Given the description of an element on the screen output the (x, y) to click on. 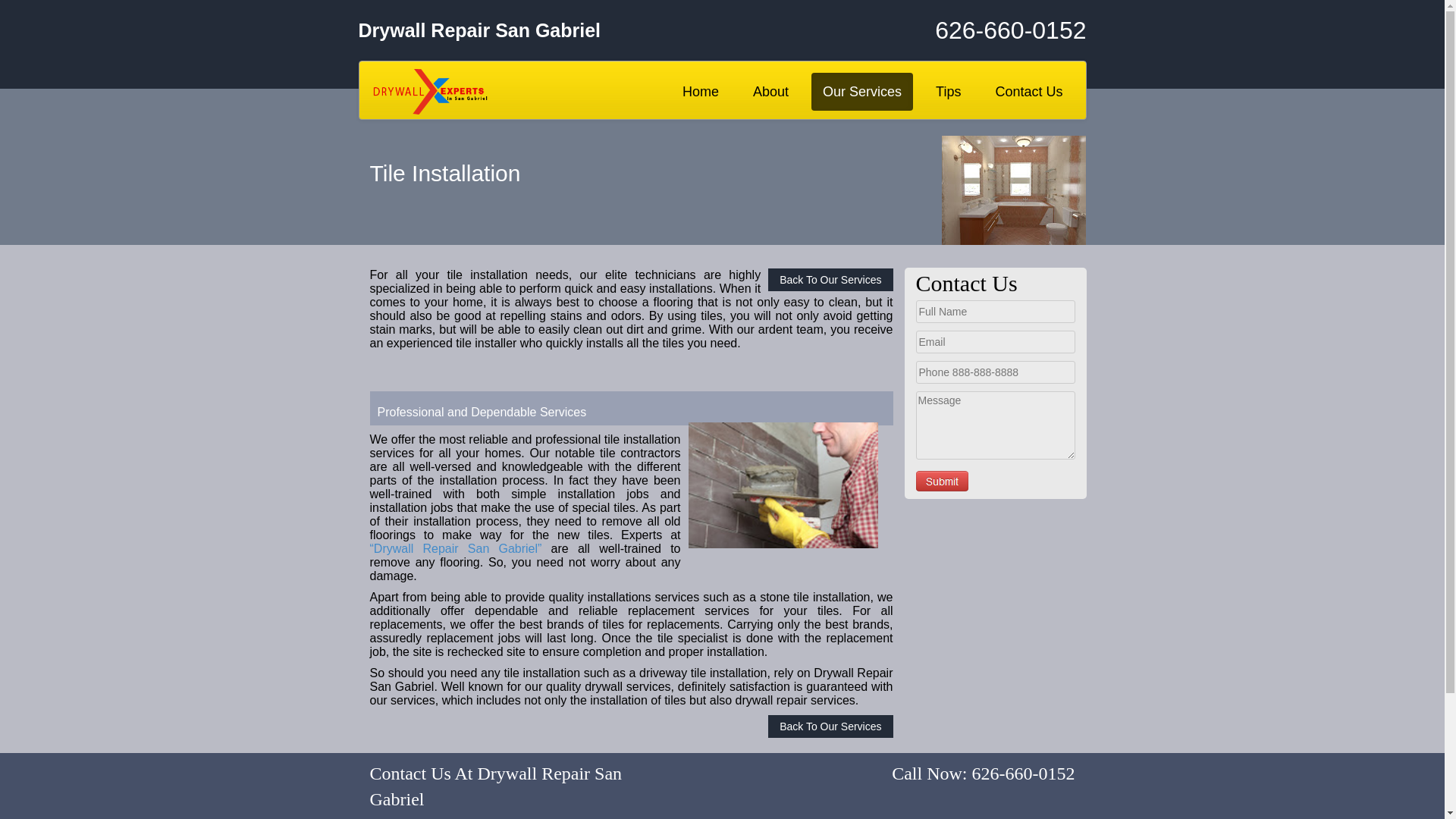
626-660-0152 (964, 30)
Back To Our Services (830, 725)
About (770, 91)
Contact Us (1029, 91)
Tile Installation in San Gabriel (782, 484)
Home (700, 91)
Our Services (861, 91)
Tips (948, 91)
Back To Our Services (830, 279)
